Given the description of an element on the screen output the (x, y) to click on. 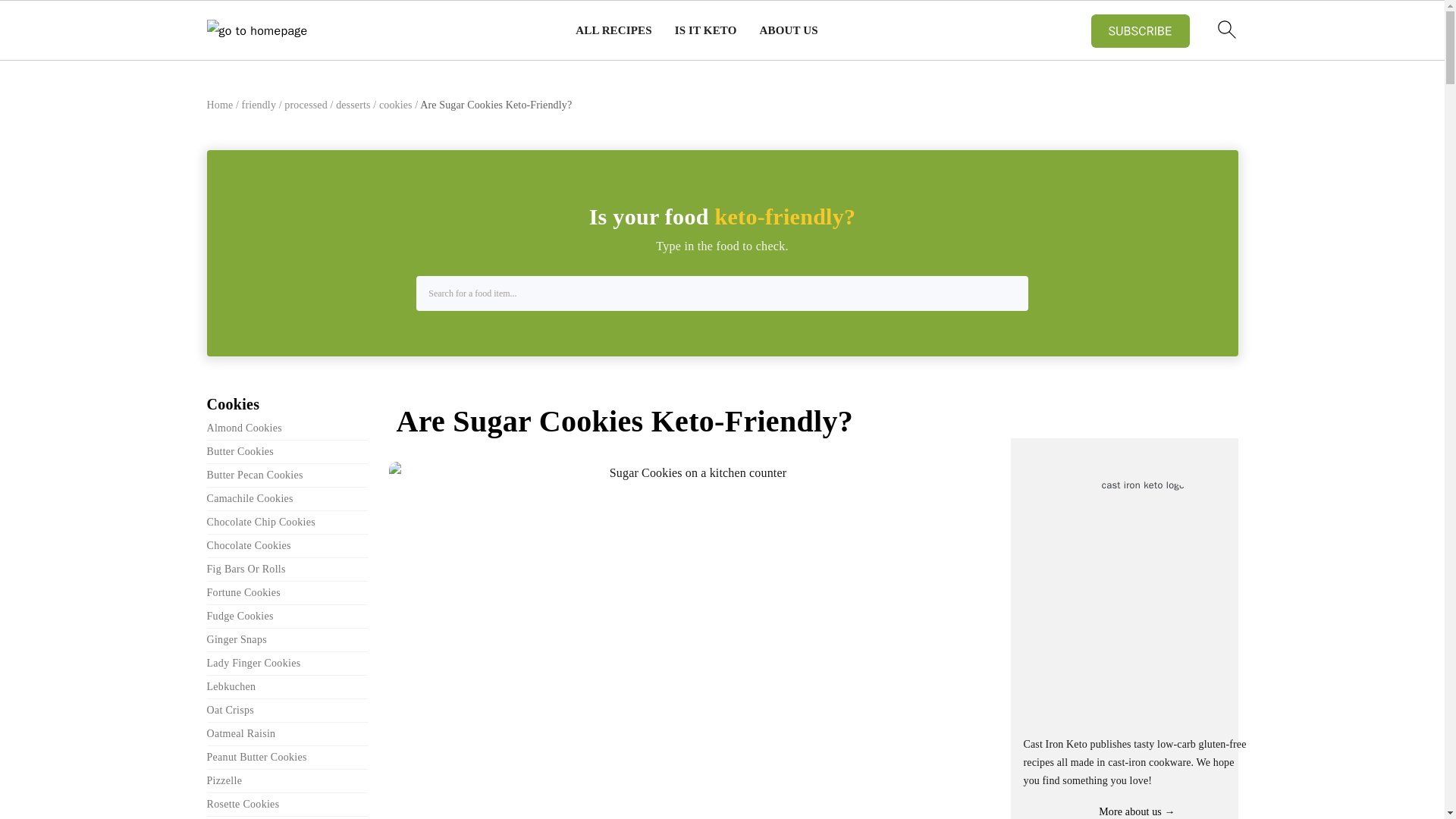
Butter Pecan Cookies (254, 473)
ALL RECIPES (612, 30)
cookies (395, 104)
IS IT KETO (705, 30)
Camachile Cookies (249, 498)
desserts (352, 104)
Butter Cookies (239, 451)
Home (219, 104)
Almond Cookies (243, 427)
friendly (258, 104)
Cookies (232, 403)
processed (304, 104)
ABOUT US (789, 30)
